Given the description of an element on the screen output the (x, y) to click on. 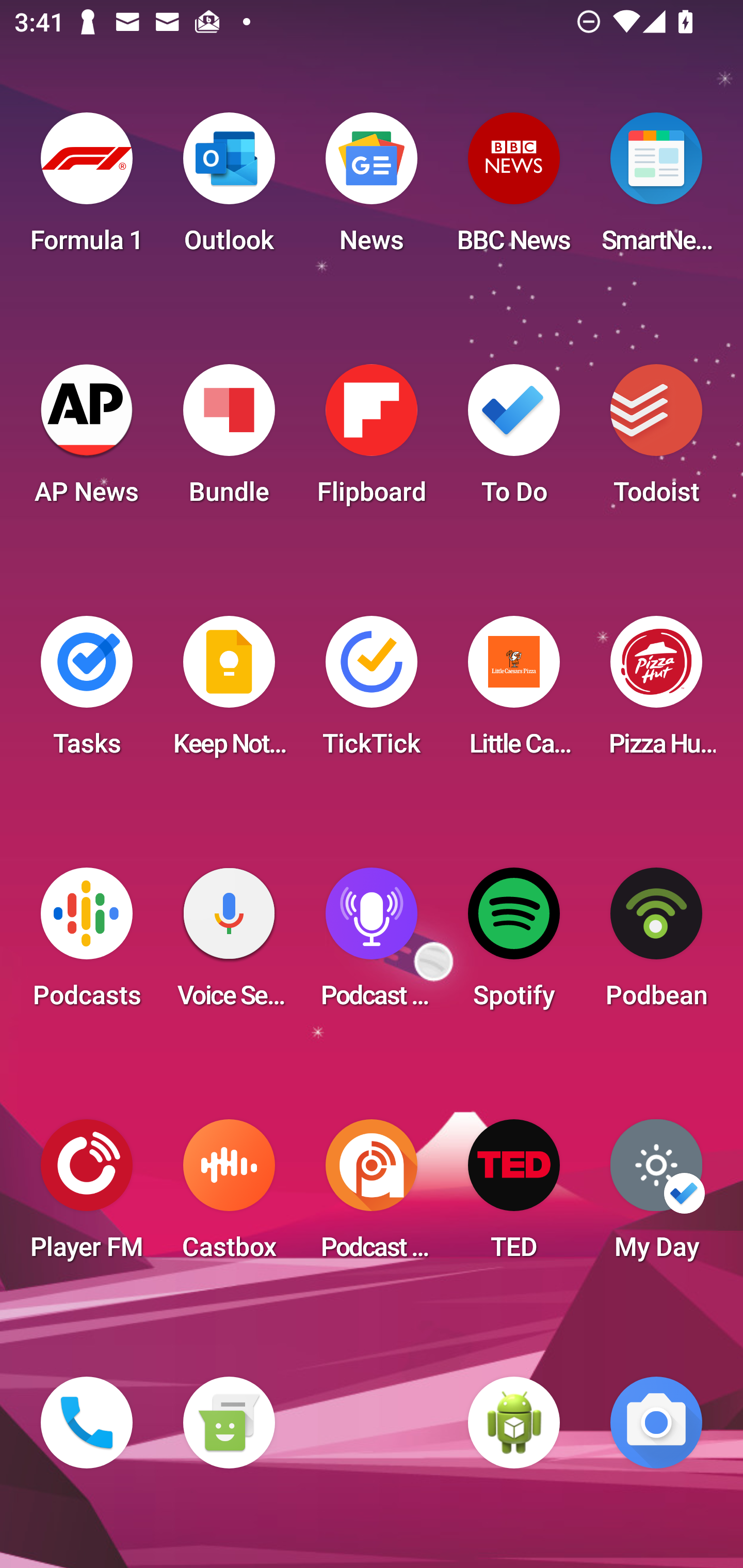
Formula 1 (86, 188)
Outlook (228, 188)
News (371, 188)
BBC News (513, 188)
SmartNews (656, 188)
AP News (86, 440)
Bundle (228, 440)
Flipboard (371, 440)
To Do (513, 440)
Todoist (656, 440)
Tasks (86, 692)
Keep Notes (228, 692)
TickTick (371, 692)
Little Caesars Pizza (513, 692)
Pizza Hut HK & Macau (656, 692)
Podcasts (86, 943)
Voice Search (228, 943)
Podcast Player (371, 943)
Spotify (513, 943)
Podbean (656, 943)
Player FM (86, 1195)
Castbox (228, 1195)
Podcast Addict (371, 1195)
TED (513, 1195)
My Day (656, 1195)
Phone (86, 1422)
Messaging (228, 1422)
WebView Browser Tester (513, 1422)
Camera (656, 1422)
